Given the description of an element on the screen output the (x, y) to click on. 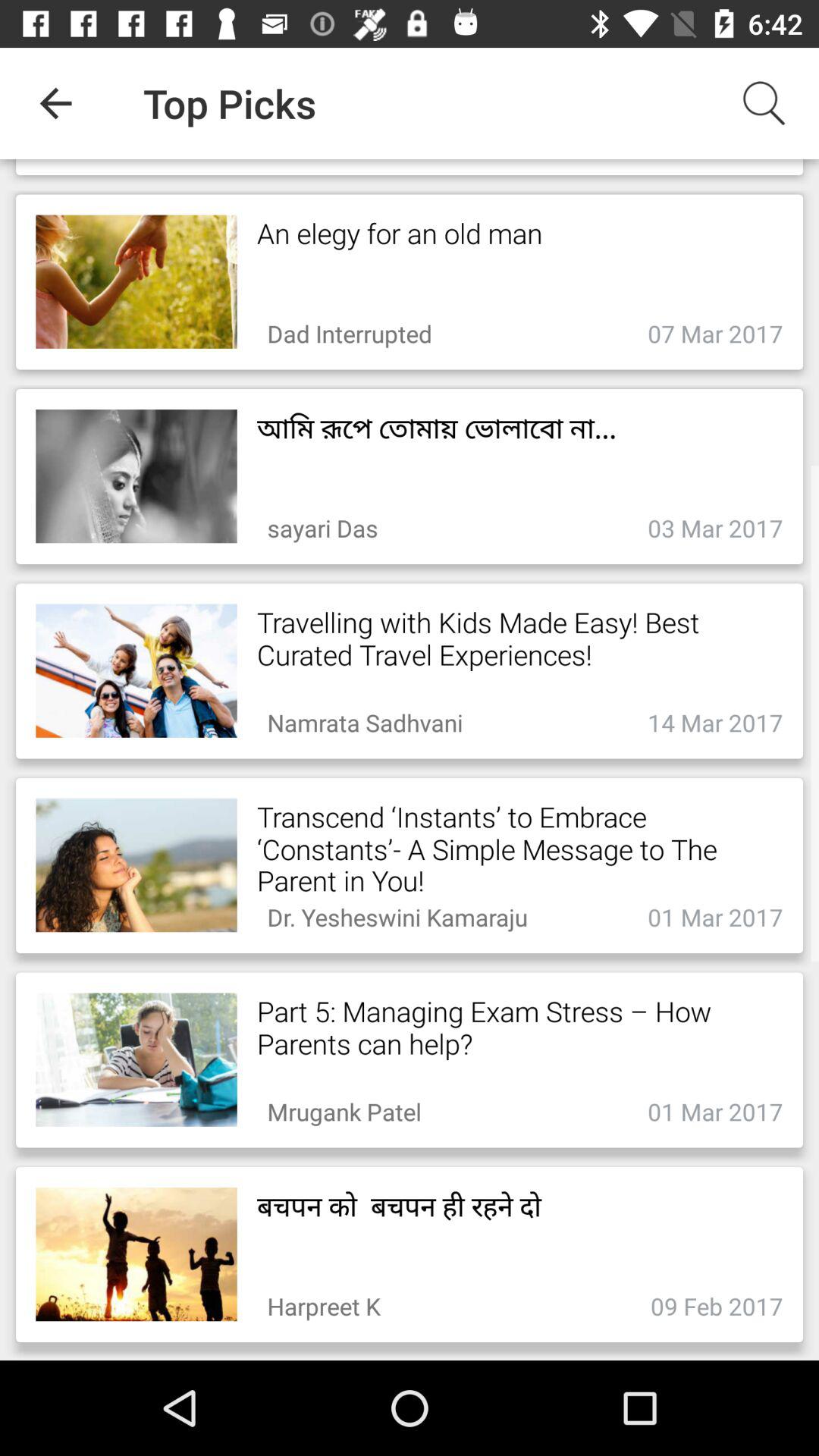
flip until the harpreet k item (323, 1301)
